Given the description of an element on the screen output the (x, y) to click on. 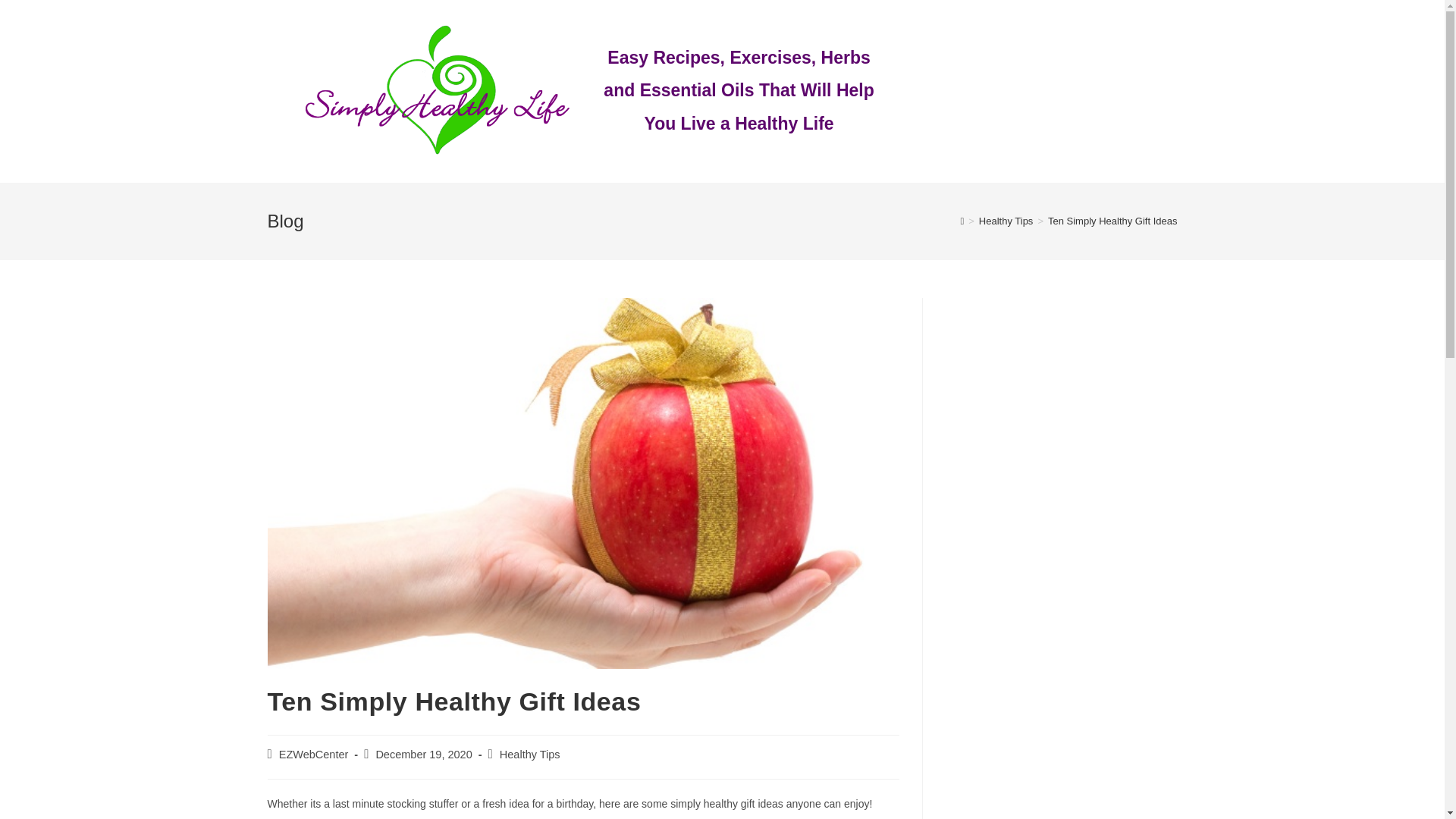
Ten Simply Healthy Gift Ideas (1112, 220)
Healthy Tips (529, 754)
Healthy Tips (1005, 220)
Posts by EZWebCenter (314, 754)
Advertisement (1022, 87)
EZWebCenter (314, 754)
